Given the description of an element on the screen output the (x, y) to click on. 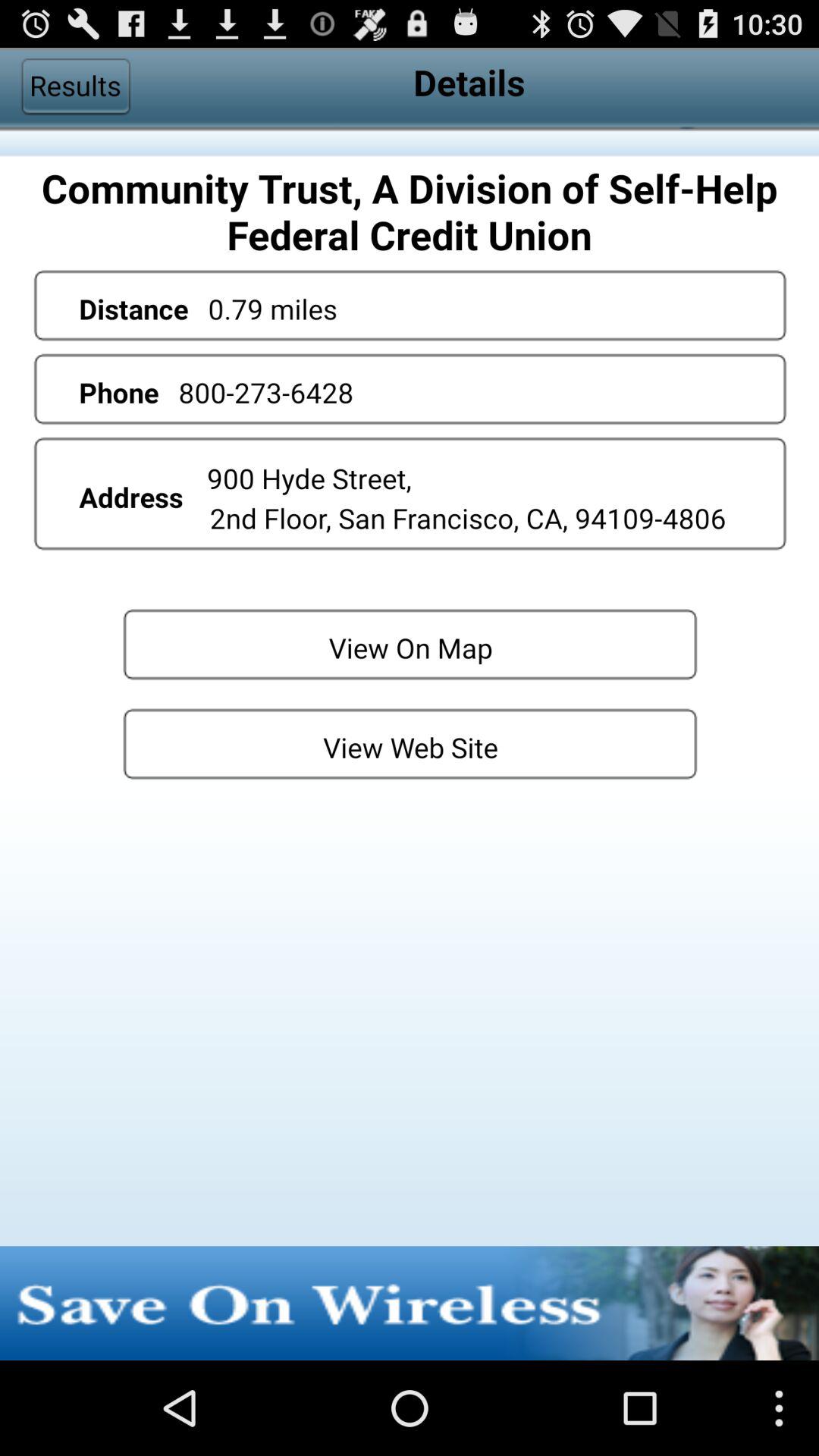
turn on item above 900 hyde street, item (265, 392)
